Given the description of an element on the screen output the (x, y) to click on. 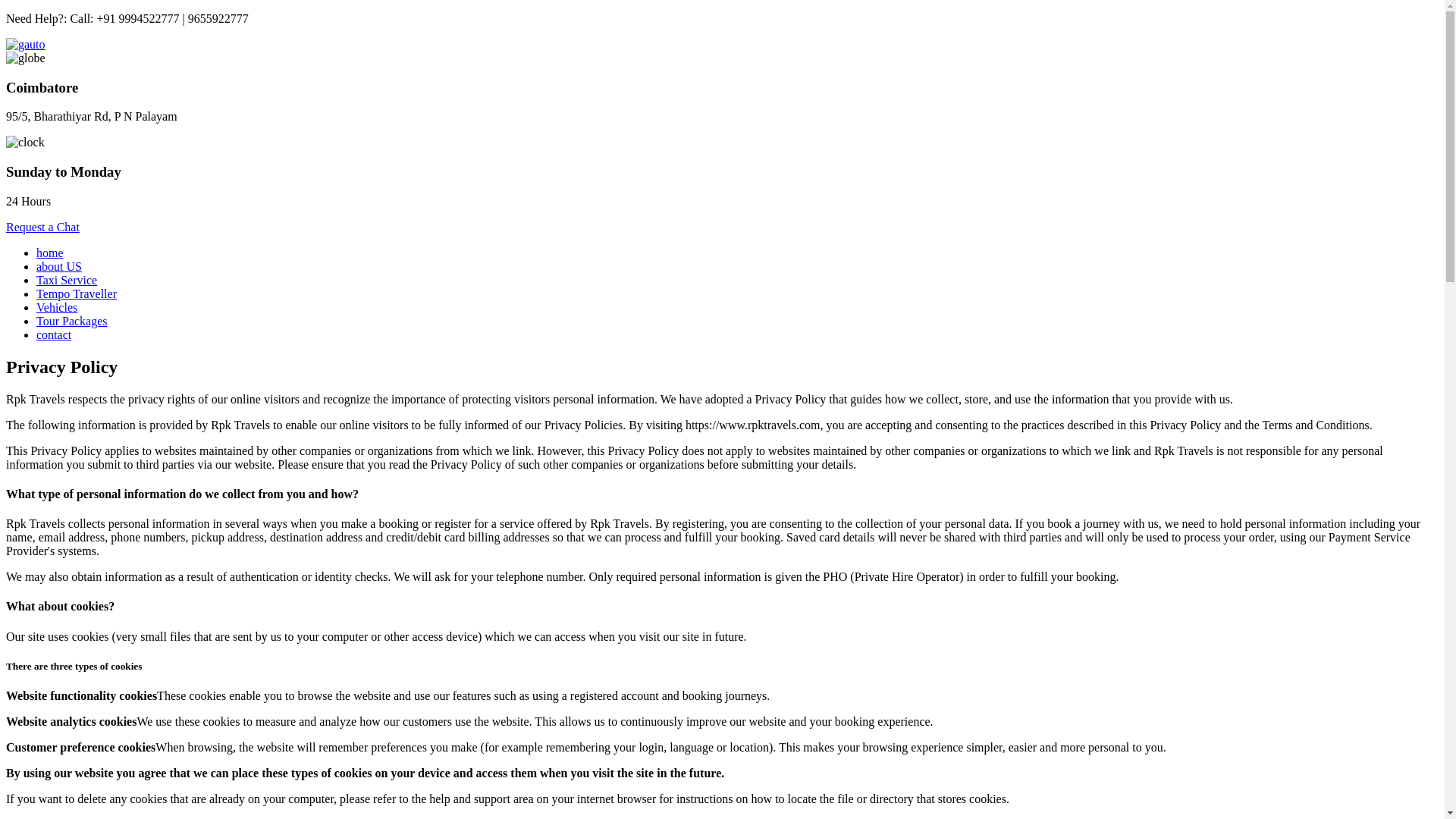
Taxi Service (66, 279)
Tempo Traveller (76, 293)
about US (58, 266)
Vehicles (56, 307)
Tour Packages (71, 320)
home (50, 252)
Request a Chat (42, 226)
contact (53, 334)
